Given the description of an element on the screen output the (x, y) to click on. 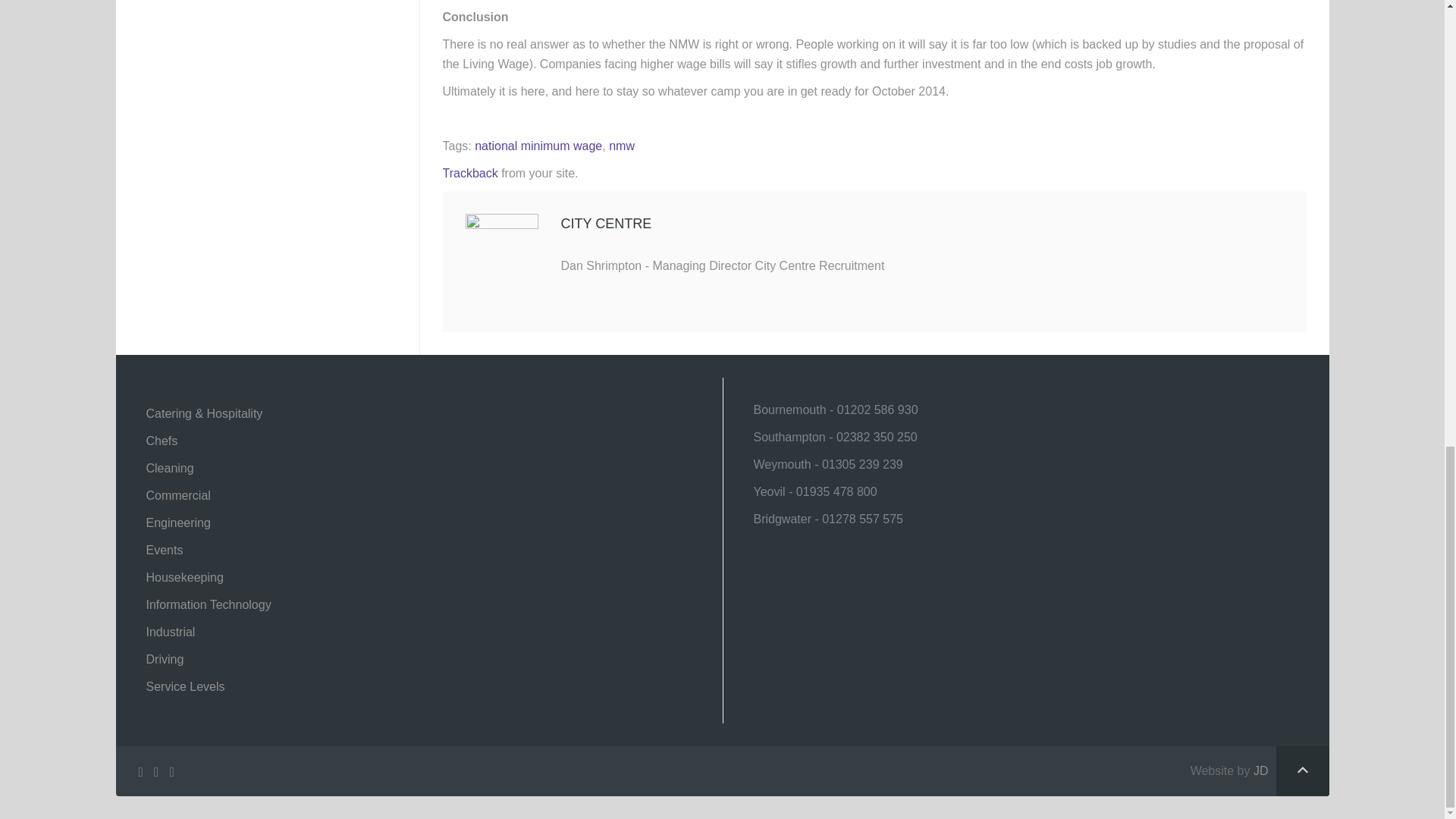
national minimum wage (538, 145)
nmw (621, 145)
